Given the description of an element on the screen output the (x, y) to click on. 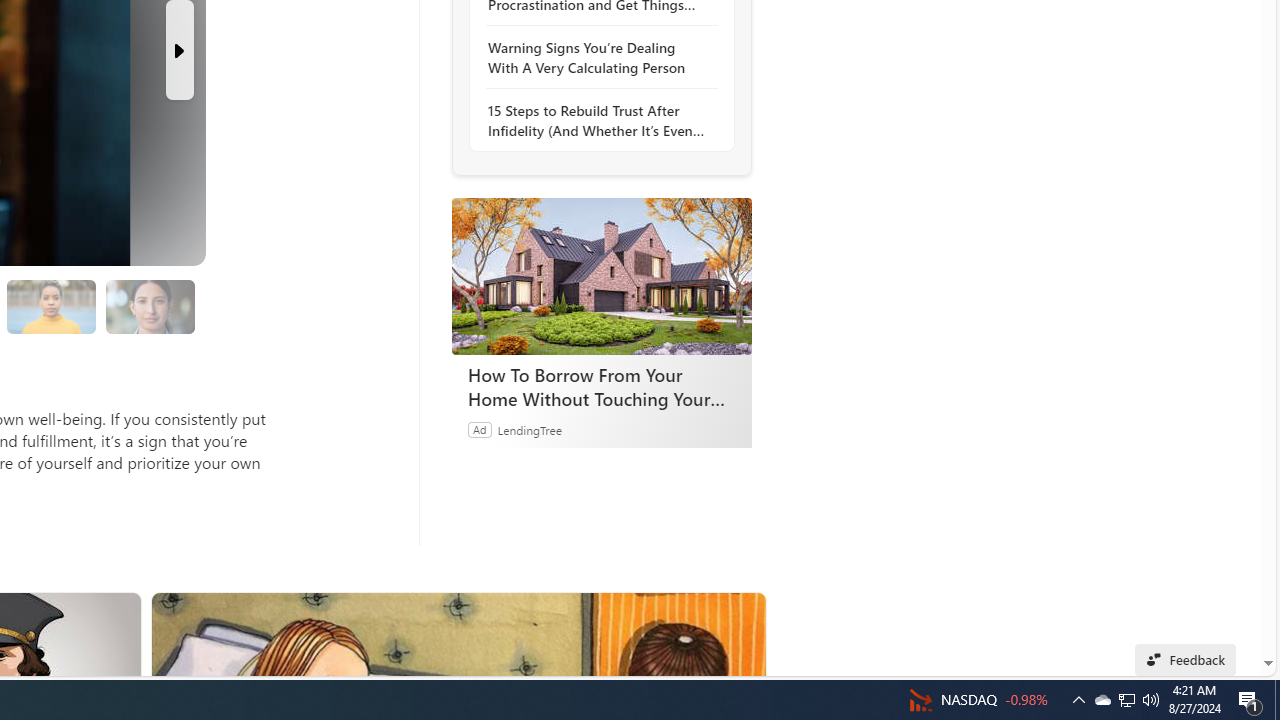
Next Slide (179, 50)
Class: progress (149, 303)
LendingTree (528, 429)
